Given the description of an element on the screen output the (x, y) to click on. 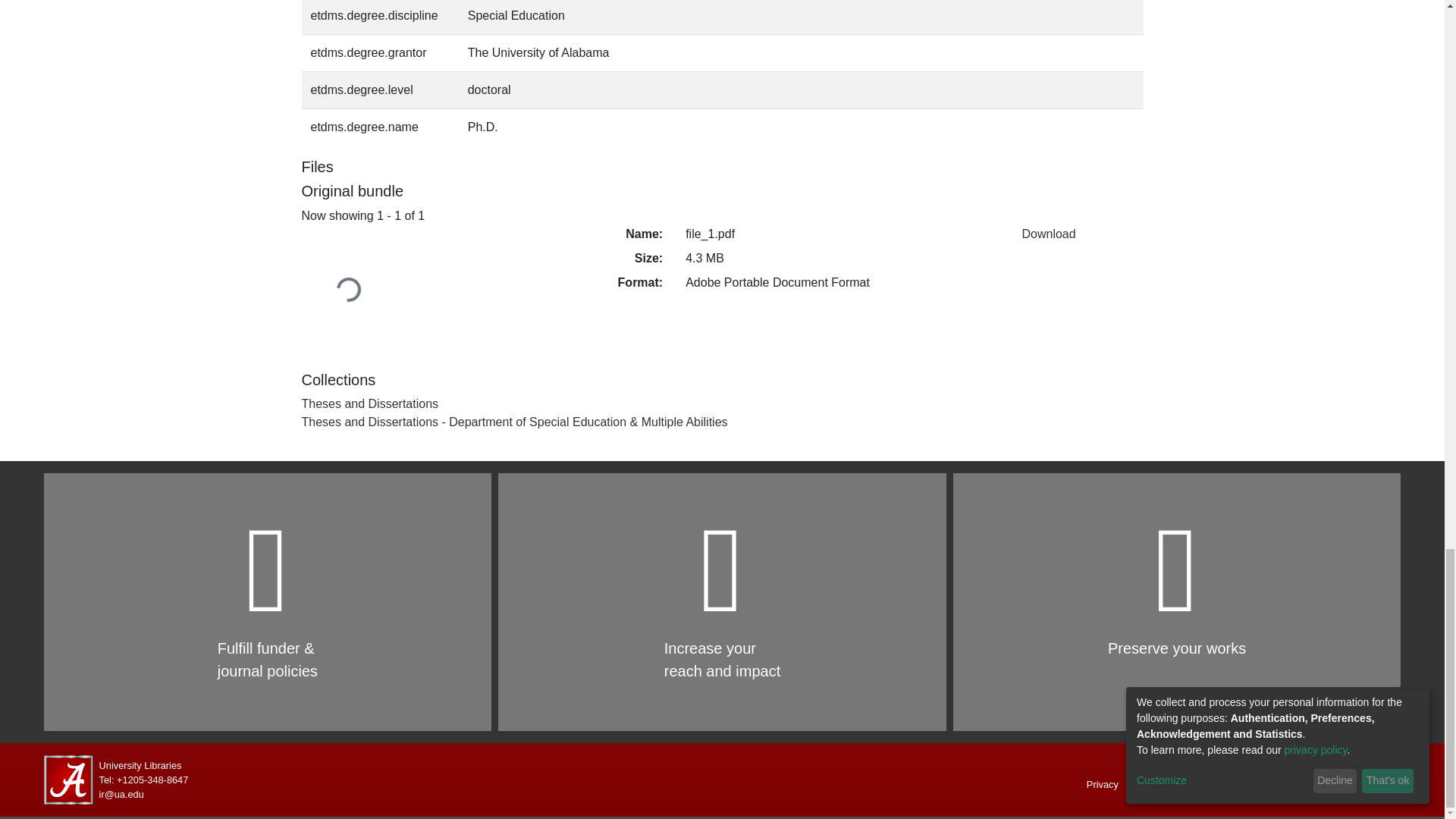
Accessibility (1254, 784)
Download (1048, 233)
Disclaimer (1174, 784)
Copyright (1351, 784)
Privacy (1102, 784)
Privacy (1102, 784)
Theses and Dissertations (370, 403)
University Libraries (140, 765)
Disclaimer (1174, 784)
Accessibility (1254, 784)
